Given the description of an element on the screen output the (x, y) to click on. 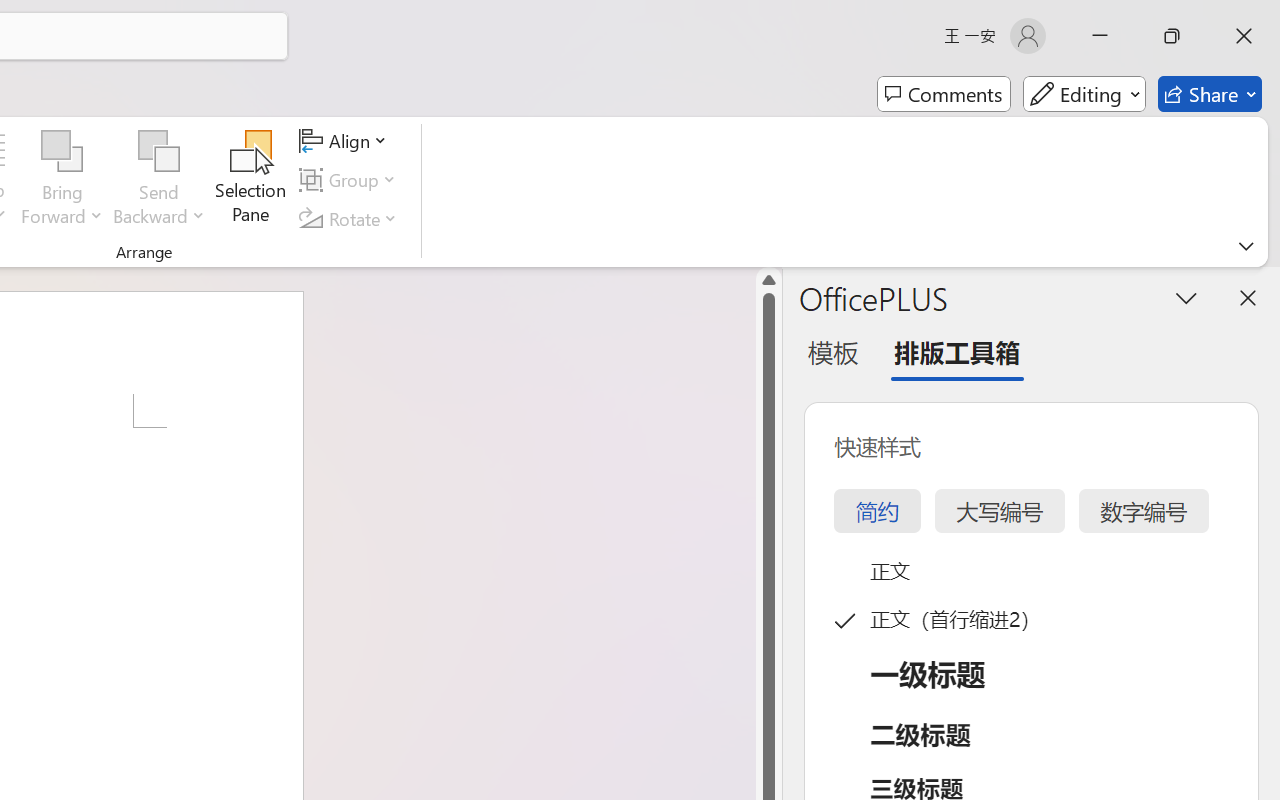
Send Backward (159, 151)
Line up (769, 279)
Bring Forward (62, 179)
